Given the description of an element on the screen output the (x, y) to click on. 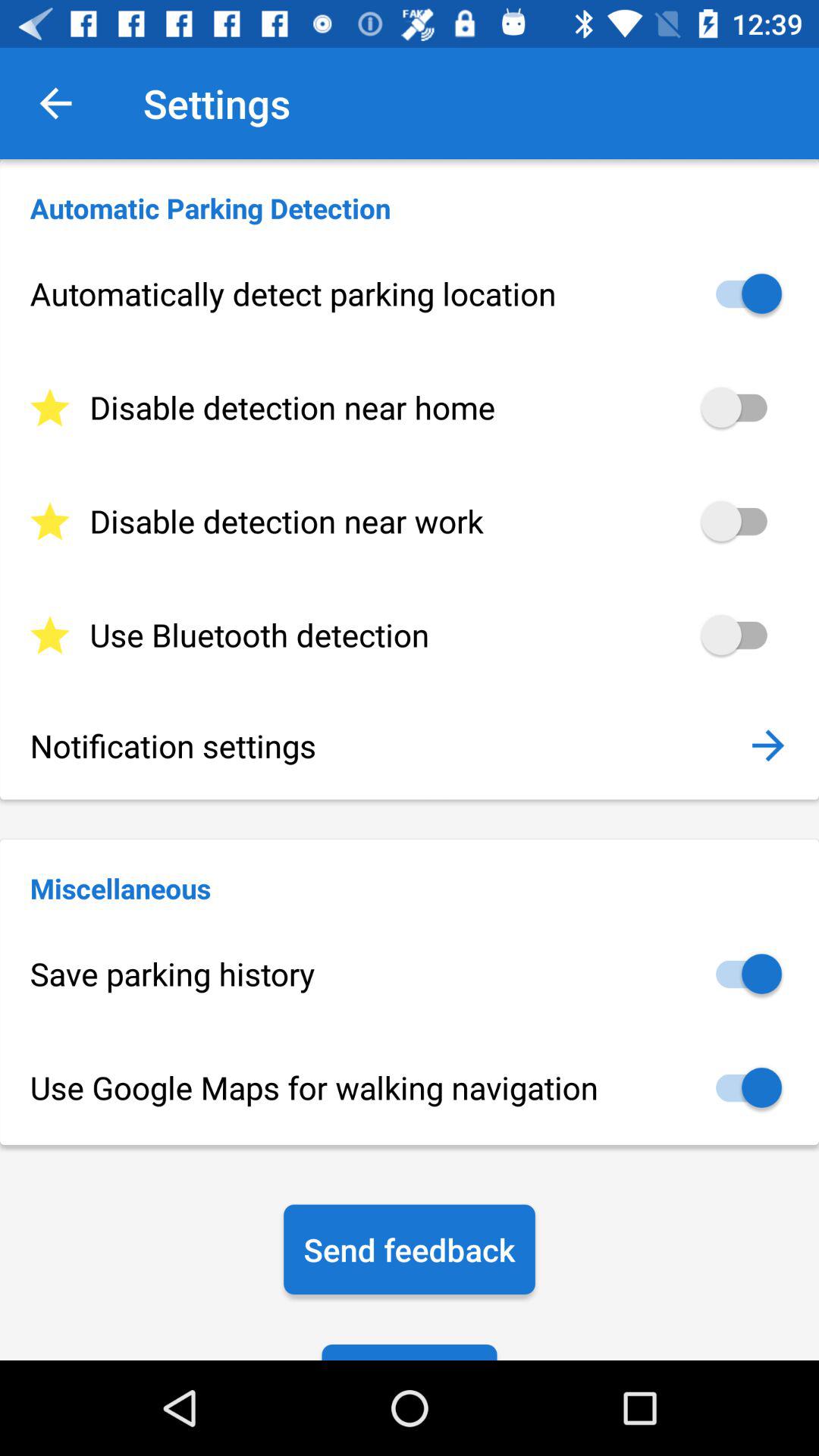
choose the icon below send feedback (409, 1352)
